Given the description of an element on the screen output the (x, y) to click on. 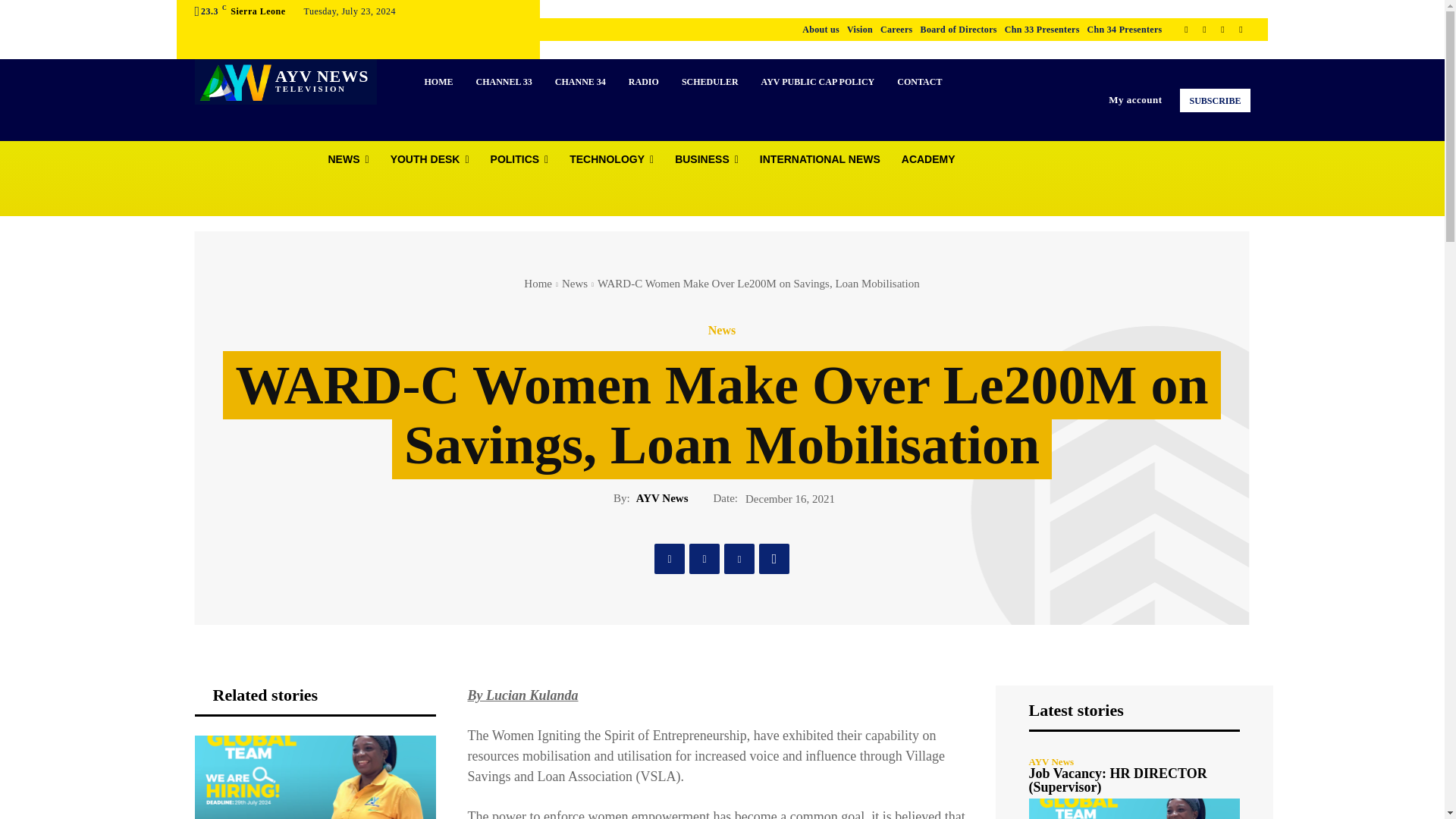
Subscribe (1214, 100)
Youtube (1240, 29)
Vision (859, 29)
Chn 33 Presenters (1042, 29)
Board of Directors (958, 29)
Careers (896, 29)
About us (821, 29)
Chn 34 Presenters (1124, 29)
Instagram (1203, 29)
Facebook (1185, 29)
Twitter (1221, 29)
